Given the description of an element on the screen output the (x, y) to click on. 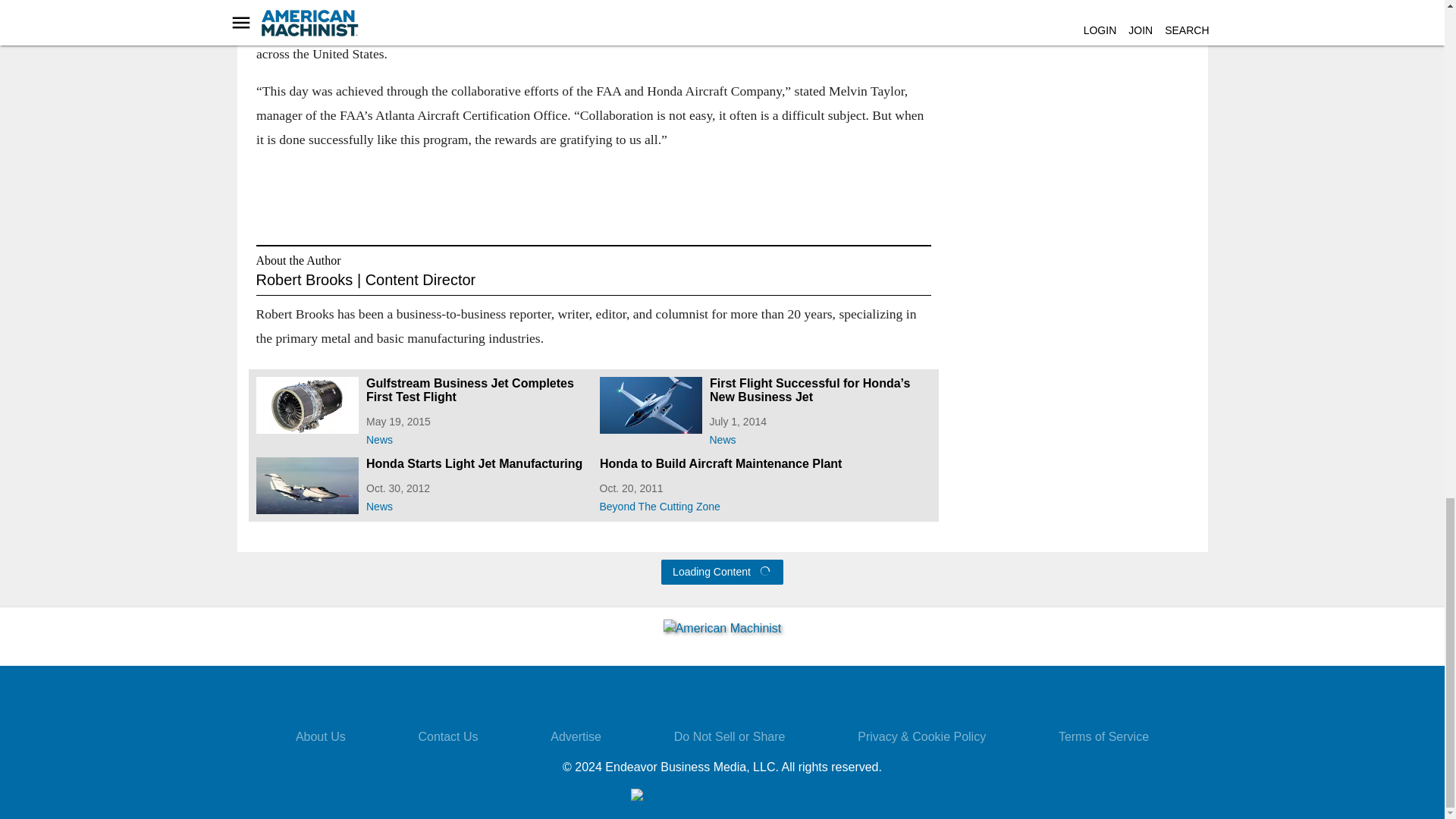
News (476, 503)
Honda to Build Aircraft Maintenance Plant (764, 463)
Beyond The Cutting Zone (764, 503)
News (476, 436)
Gulfstream Business Jet Completes First Test Flight (476, 390)
News (820, 436)
Honda Starts Light Jet Manufacturing (476, 463)
